Given the description of an element on the screen output the (x, y) to click on. 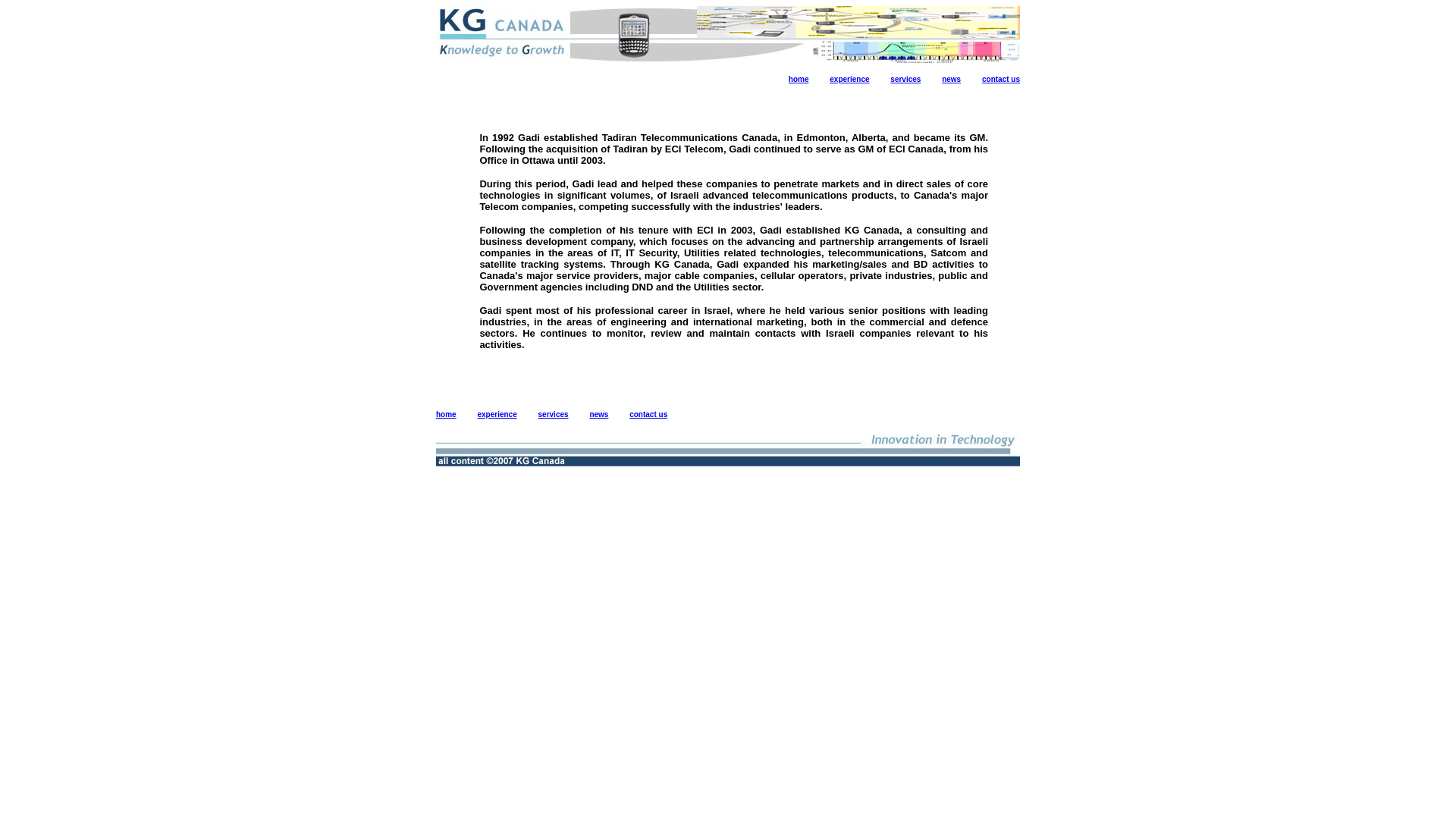
news (598, 414)
experience (849, 79)
contact us (647, 414)
services (553, 414)
contact us (1000, 79)
home (446, 414)
experience (496, 414)
services (904, 79)
news (951, 79)
home (799, 79)
